Given the description of an element on the screen output the (x, y) to click on. 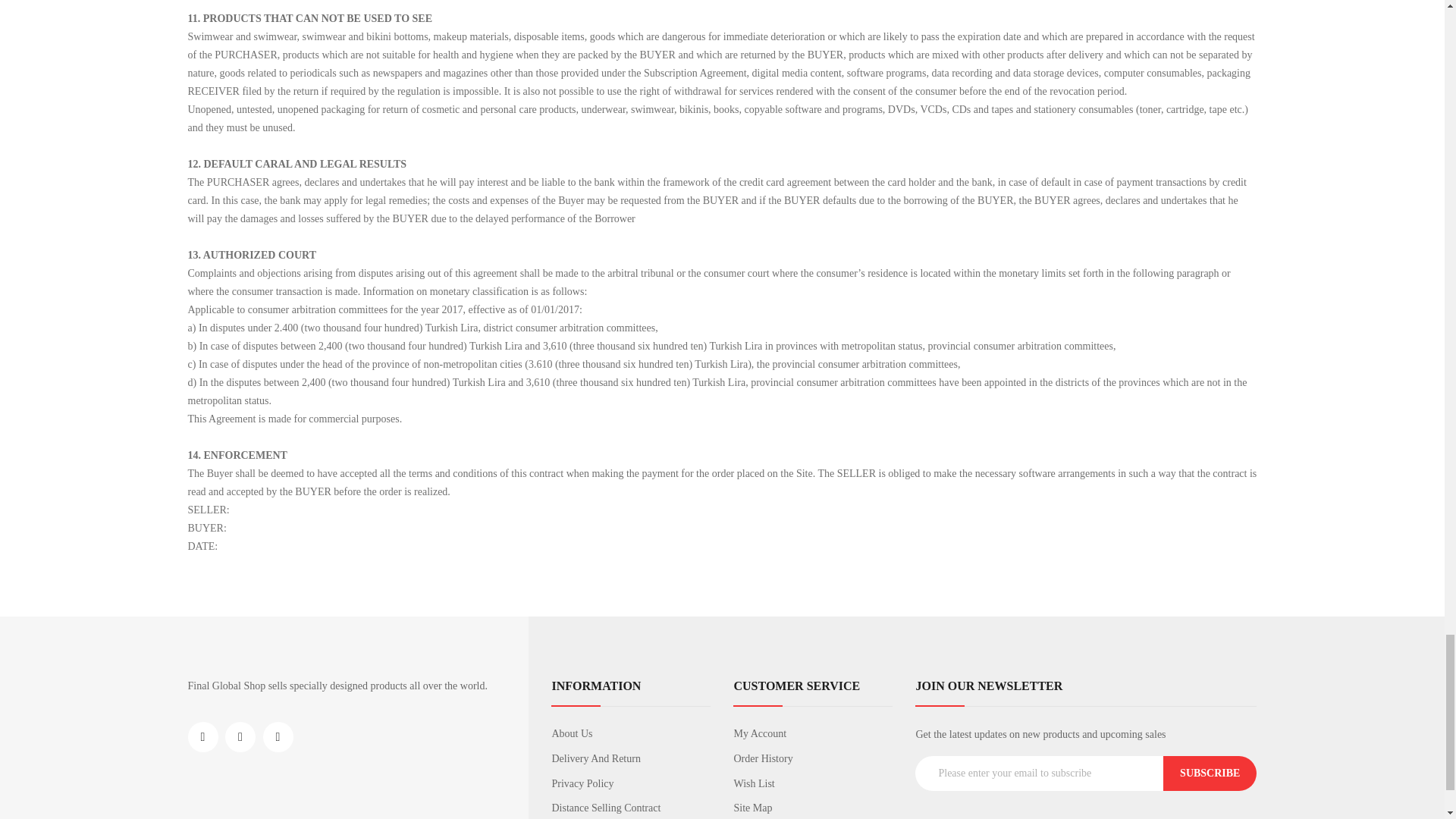
Facebook (202, 736)
Youtube (277, 736)
Instagram (240, 736)
